Given the description of an element on the screen output the (x, y) to click on. 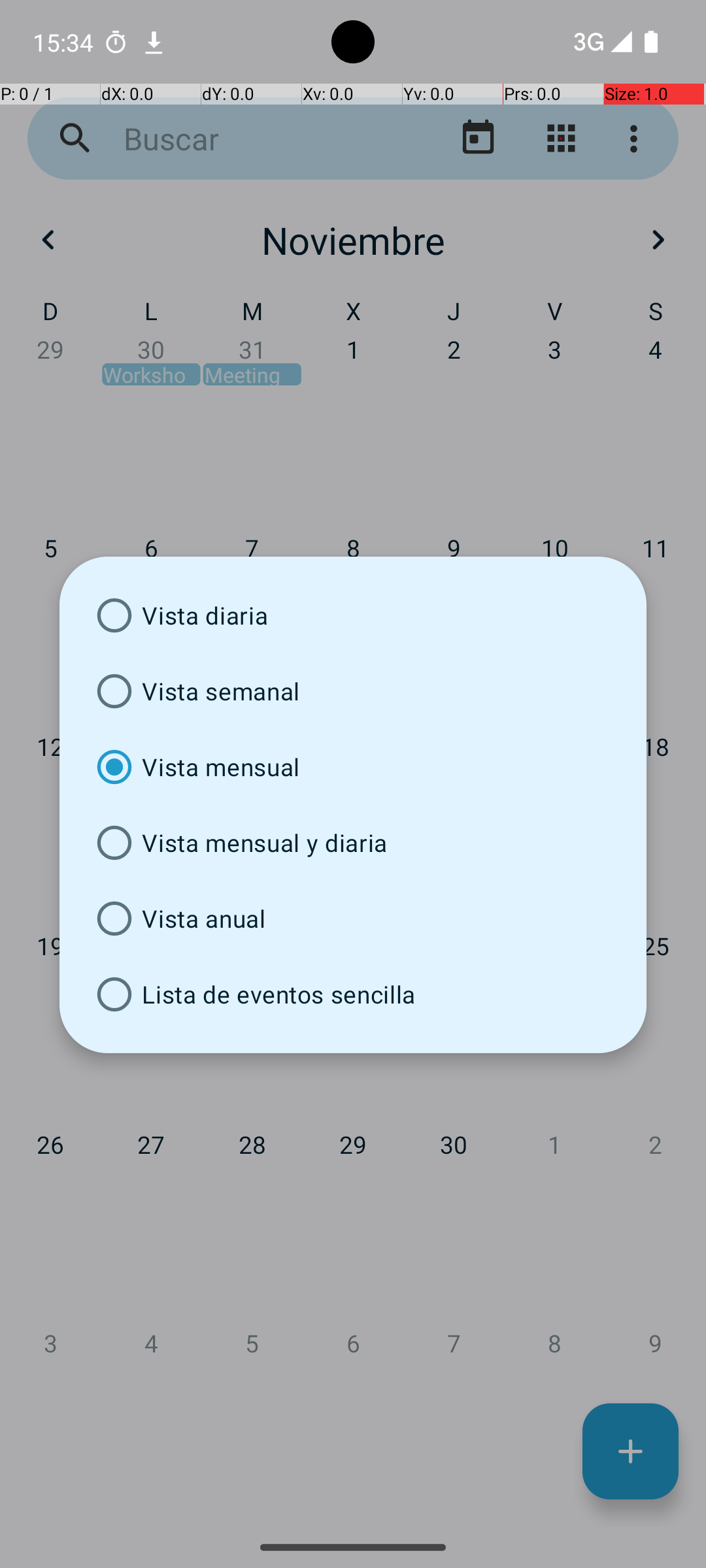
Vista diaria Element type: android.widget.RadioButton (352, 615)
Vista semanal Element type: android.widget.RadioButton (352, 691)
Vista mensual Element type: android.widget.RadioButton (352, 766)
Vista mensual y diaria Element type: android.widget.RadioButton (352, 842)
Vista anual Element type: android.widget.RadioButton (352, 918)
Lista de eventos sencilla Element type: android.widget.RadioButton (352, 994)
